Given the description of an element on the screen output the (x, y) to click on. 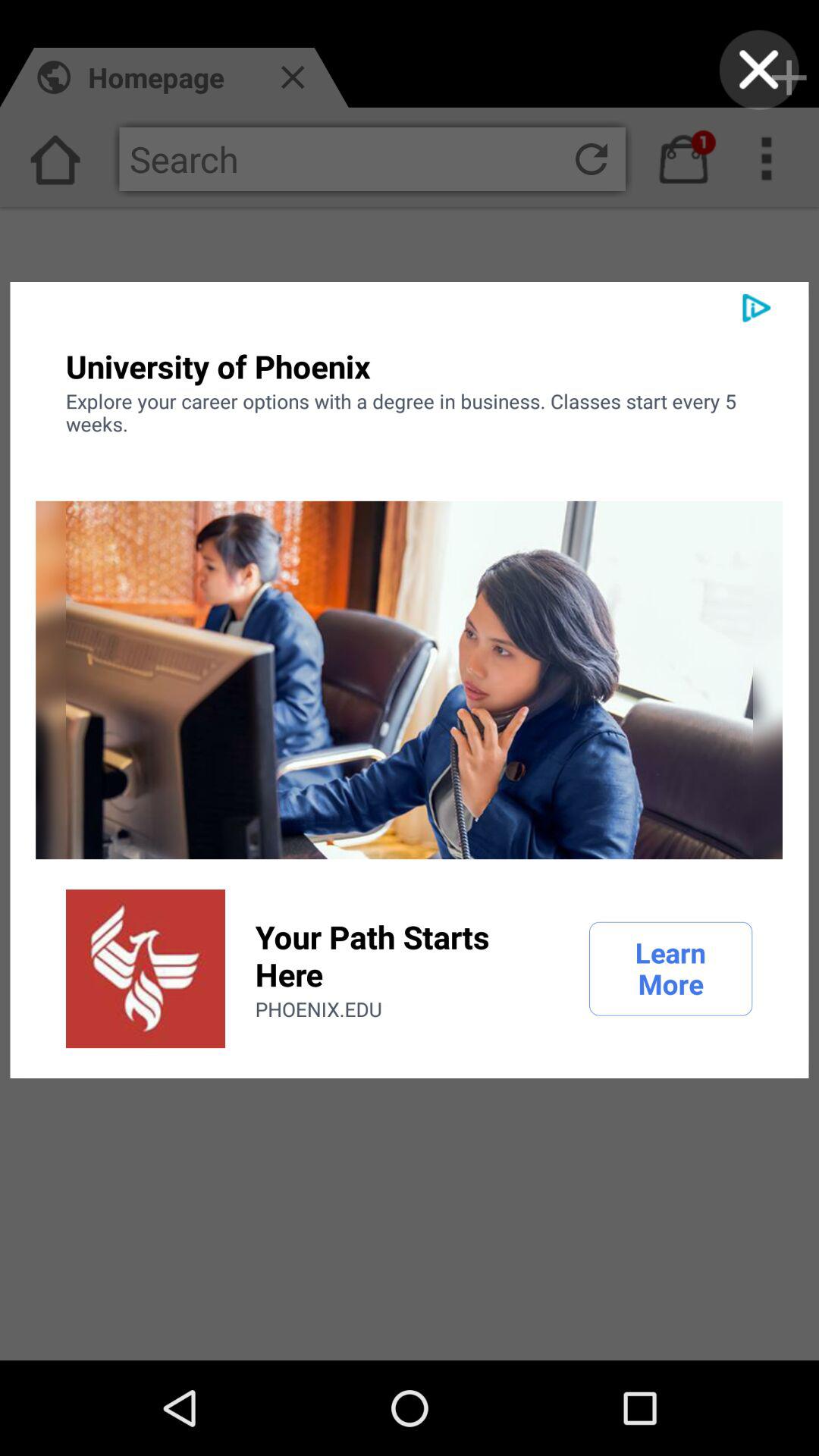
scroll until learn more item (670, 968)
